Given the description of an element on the screen output the (x, y) to click on. 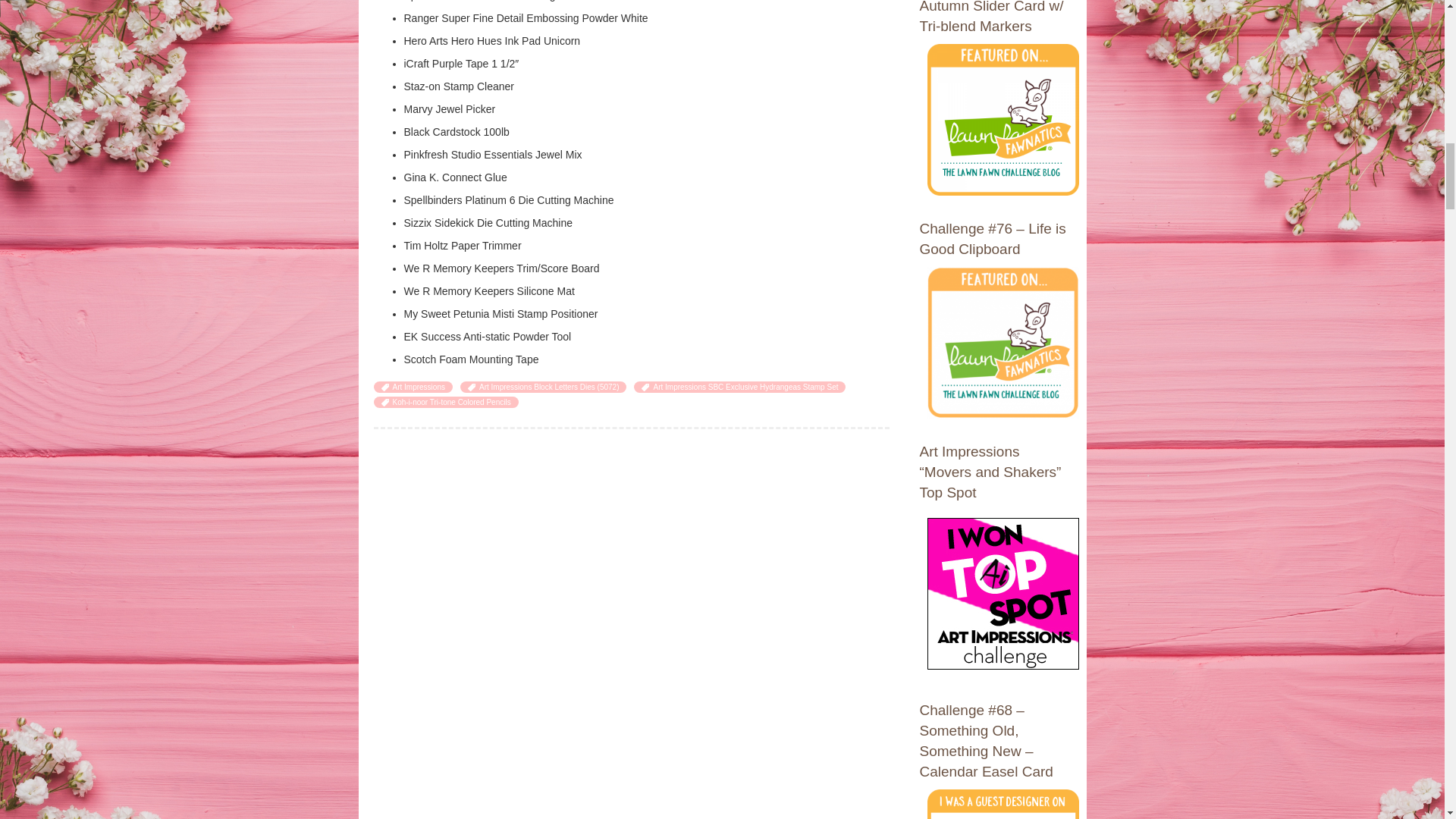
Art Impressions SBC Exclusive Hydrangeas Stamp Set (745, 387)
Koh-i-noor Tri-tone Colored Pencils (452, 402)
Art Impressions (419, 387)
